Given the description of an element on the screen output the (x, y) to click on. 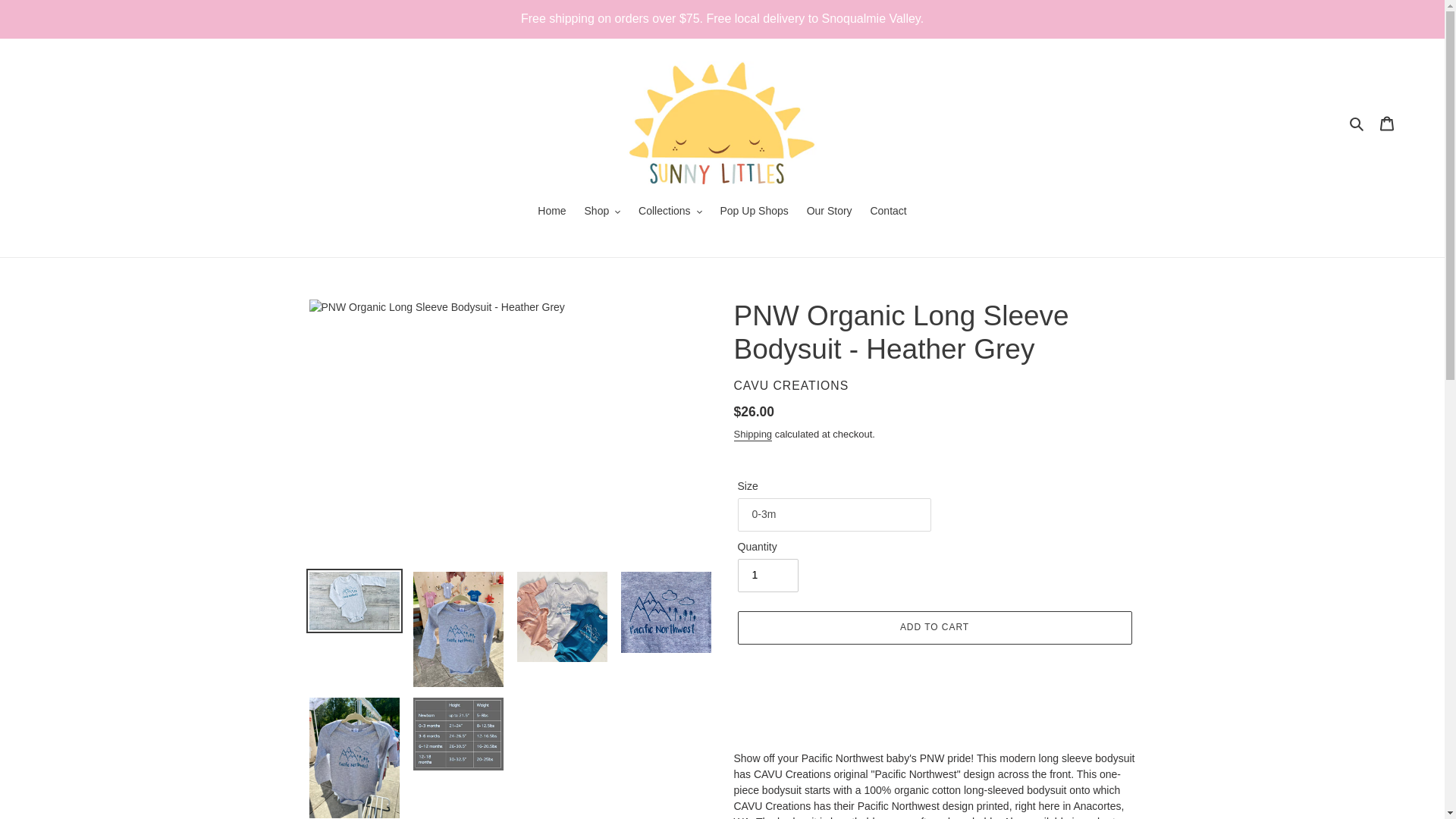
1 (766, 575)
Search (1357, 122)
Home (551, 212)
Shop (602, 212)
Cart (1387, 122)
